Given the description of an element on the screen output the (x, y) to click on. 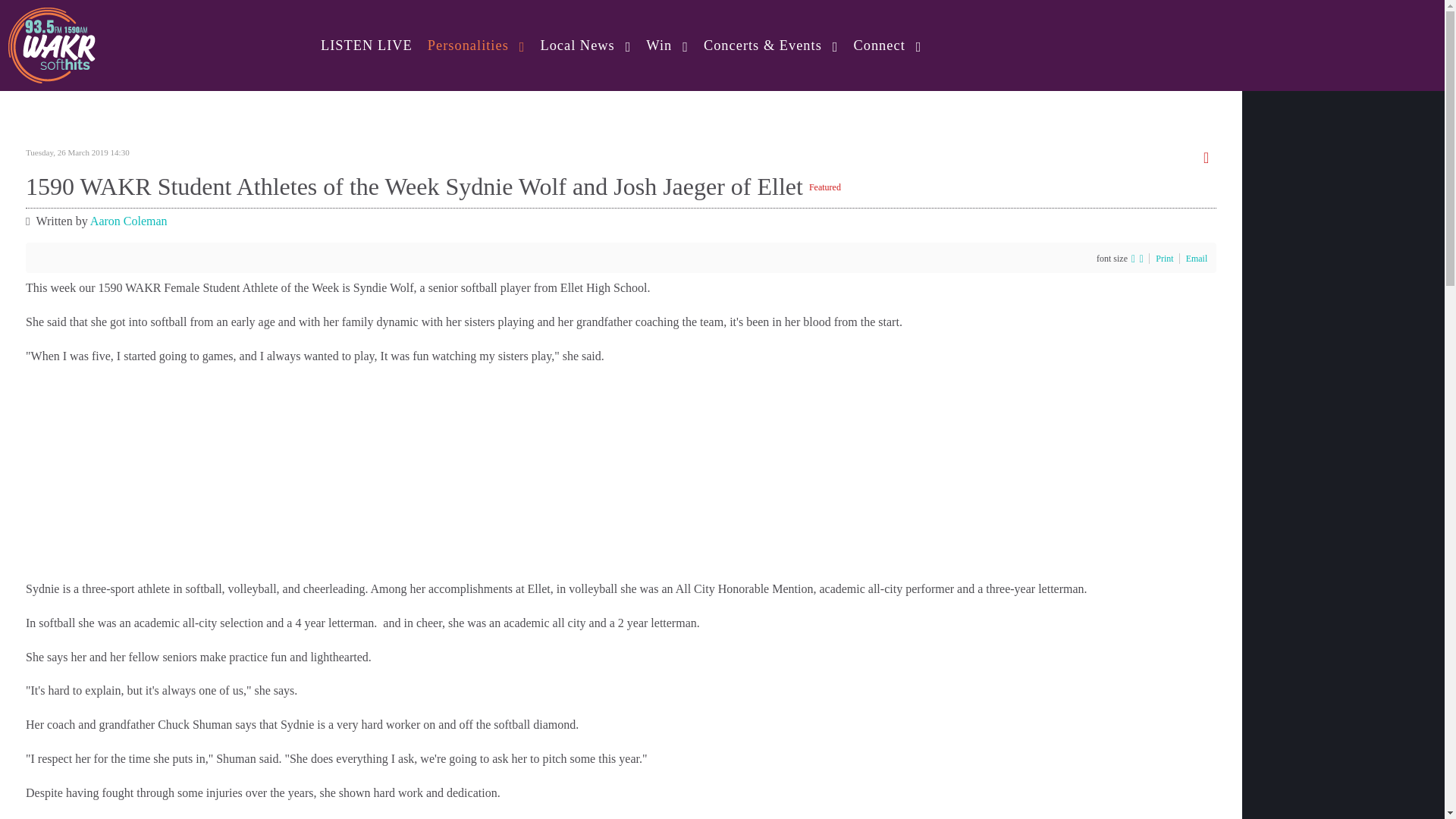
LISTEN LIVE (366, 45)
Connect (887, 45)
Local News (585, 45)
WAKR (51, 42)
Win (667, 45)
Personalities (476, 45)
